Given the description of an element on the screen output the (x, y) to click on. 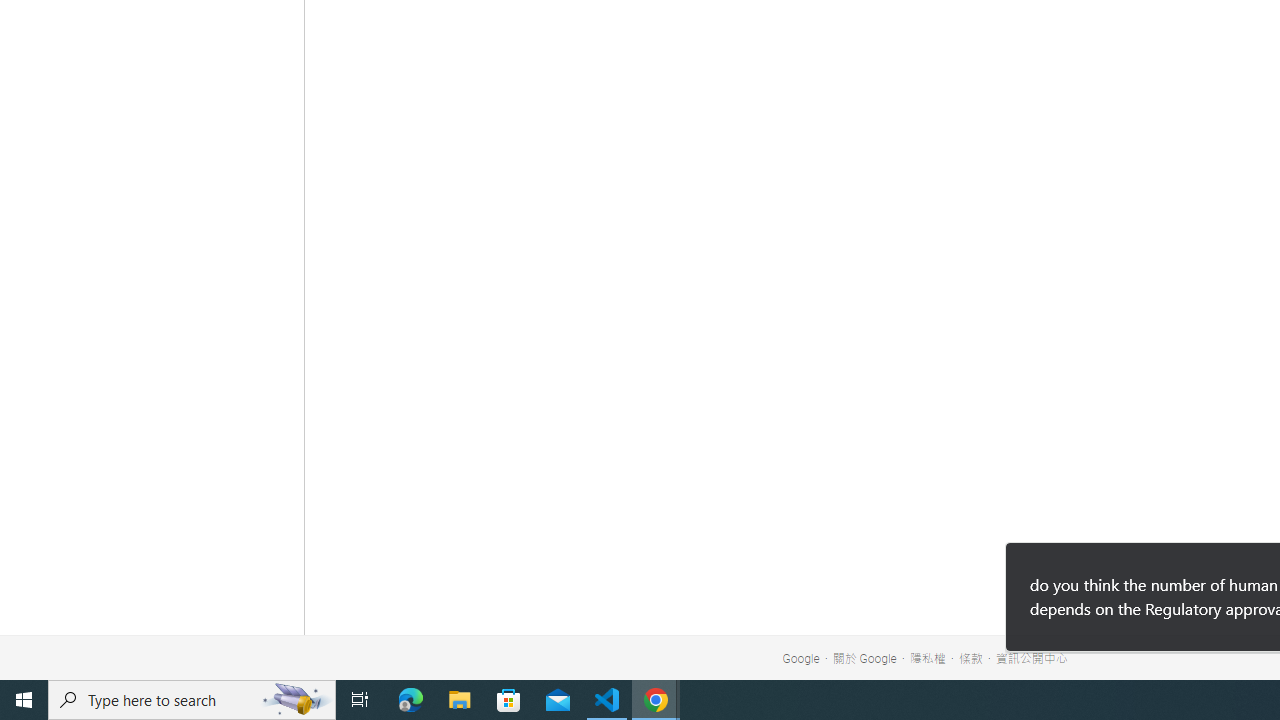
Google (801, 659)
